Given the description of an element on the screen output the (x, y) to click on. 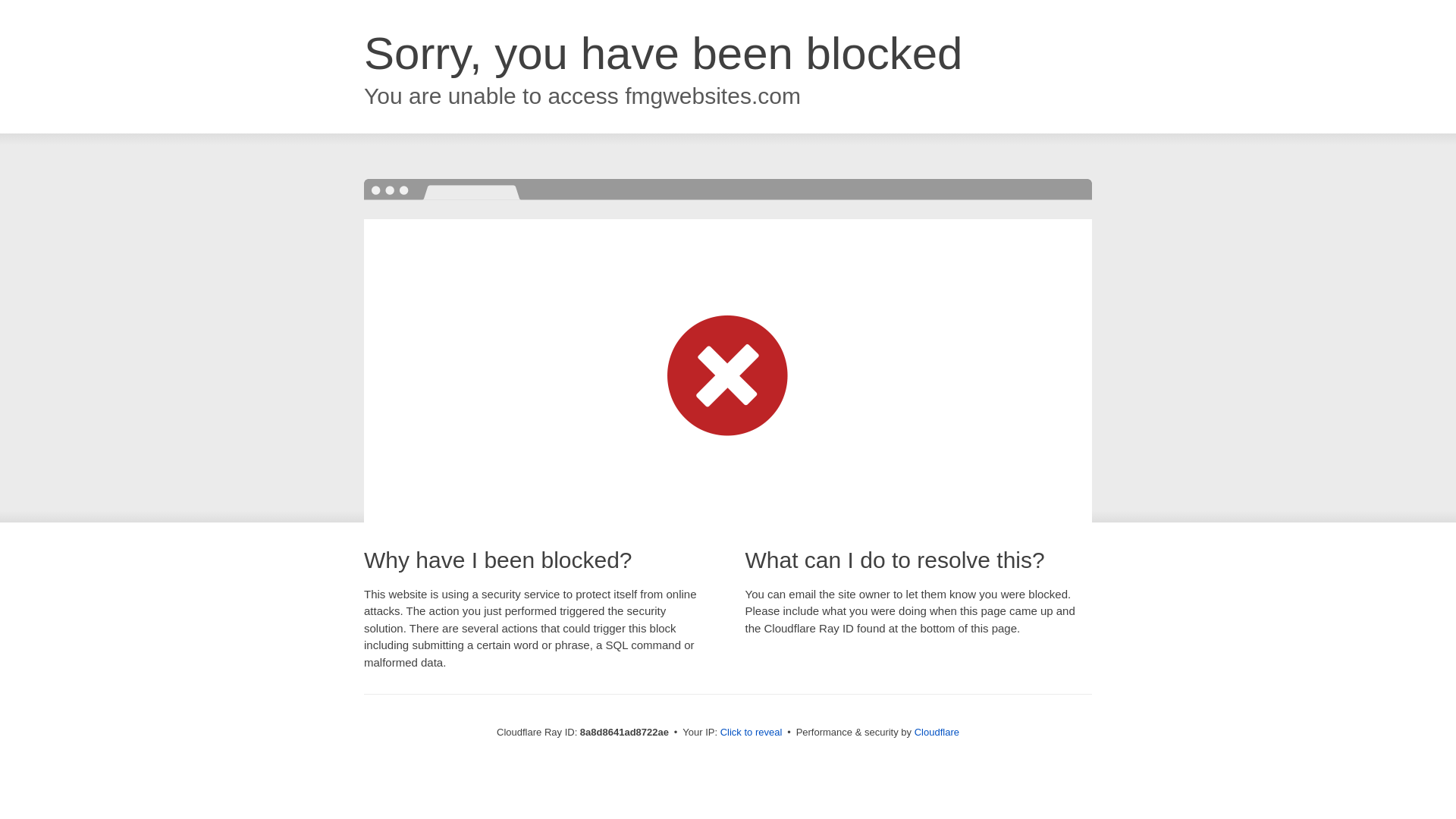
Click to reveal (751, 732)
Cloudflare (936, 731)
